Given the description of an element on the screen output the (x, y) to click on. 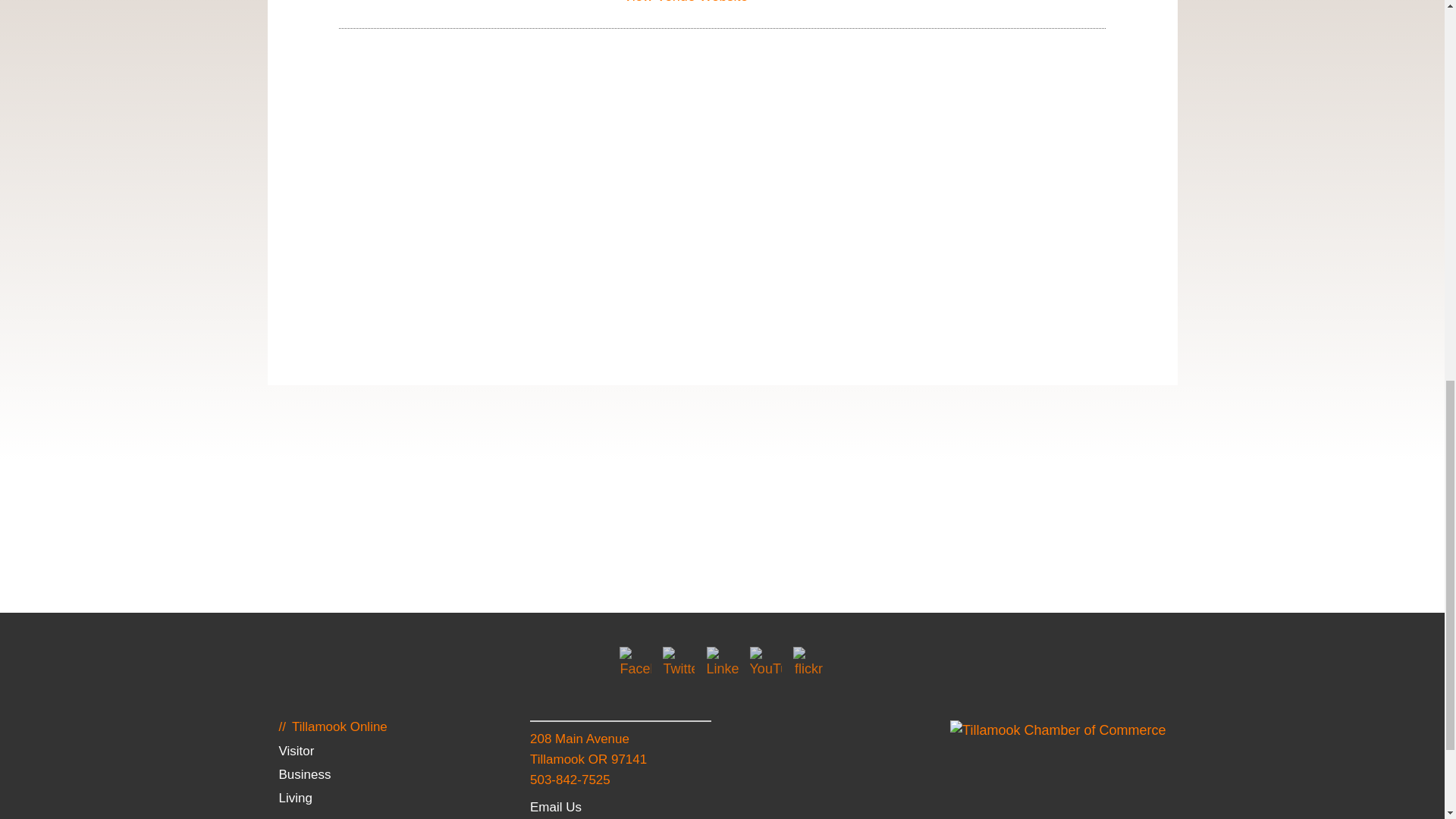
Business (304, 774)
YouTube (765, 662)
View Venue Website (685, 2)
Living (294, 798)
Tillamook Chamber of Commerce (1058, 731)
Twitter (678, 662)
Facebook (635, 662)
Visitor (296, 750)
LinkedIn (722, 662)
flickr (809, 662)
